Given the description of an element on the screen output the (x, y) to click on. 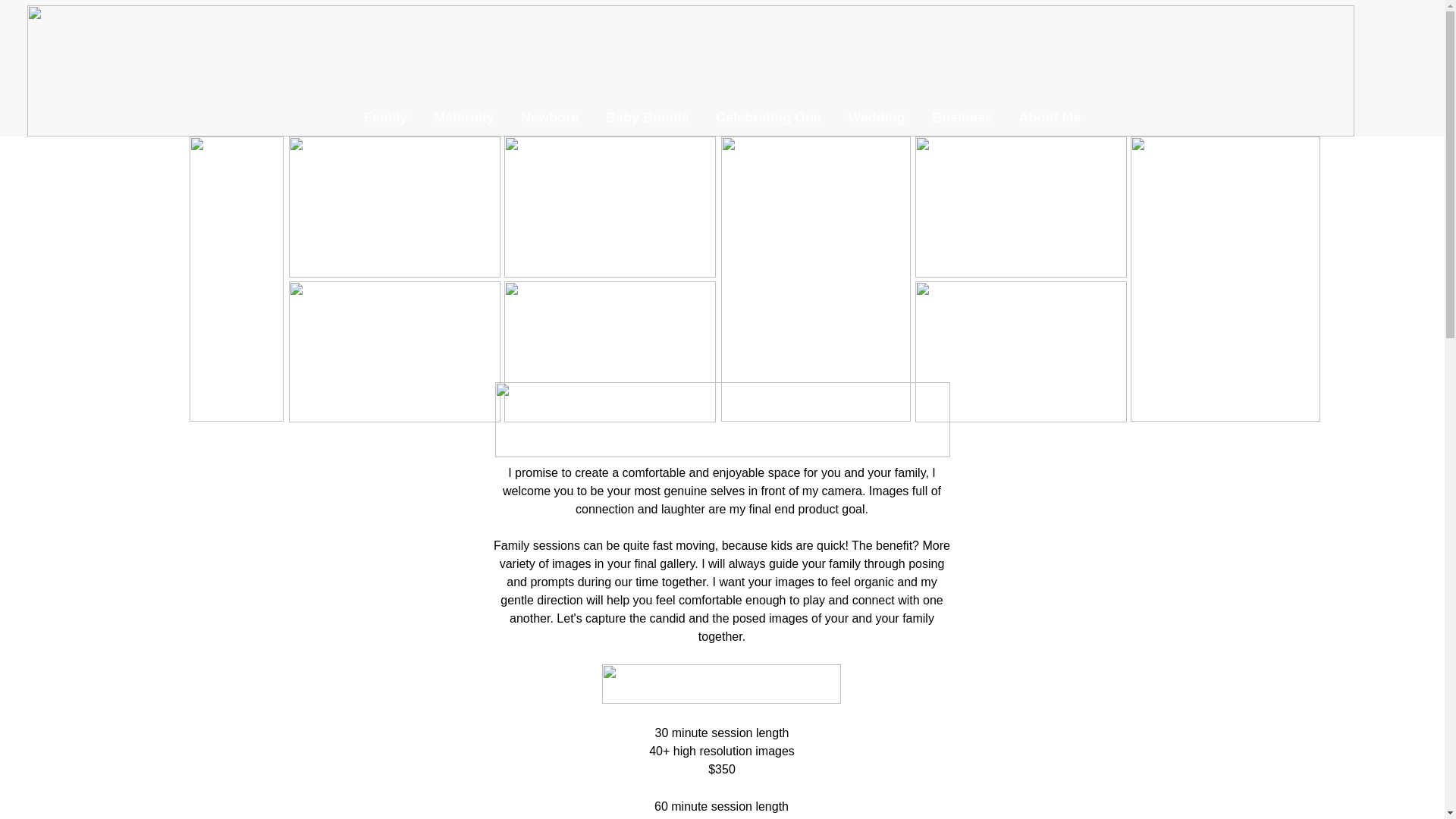
Baby Bundle (647, 117)
Preview-60.jpg (1019, 206)
Package options header.png (721, 683)
sneakpeek-14.JPG (393, 206)
About Me (1049, 117)
Family experience - heading.png (722, 419)
Family (385, 117)
Preview-18.jpg (608, 206)
Compressed-10.JPG (1019, 351)
Social scheduler-18.jpg (393, 351)
